Given the description of an element on the screen output the (x, y) to click on. 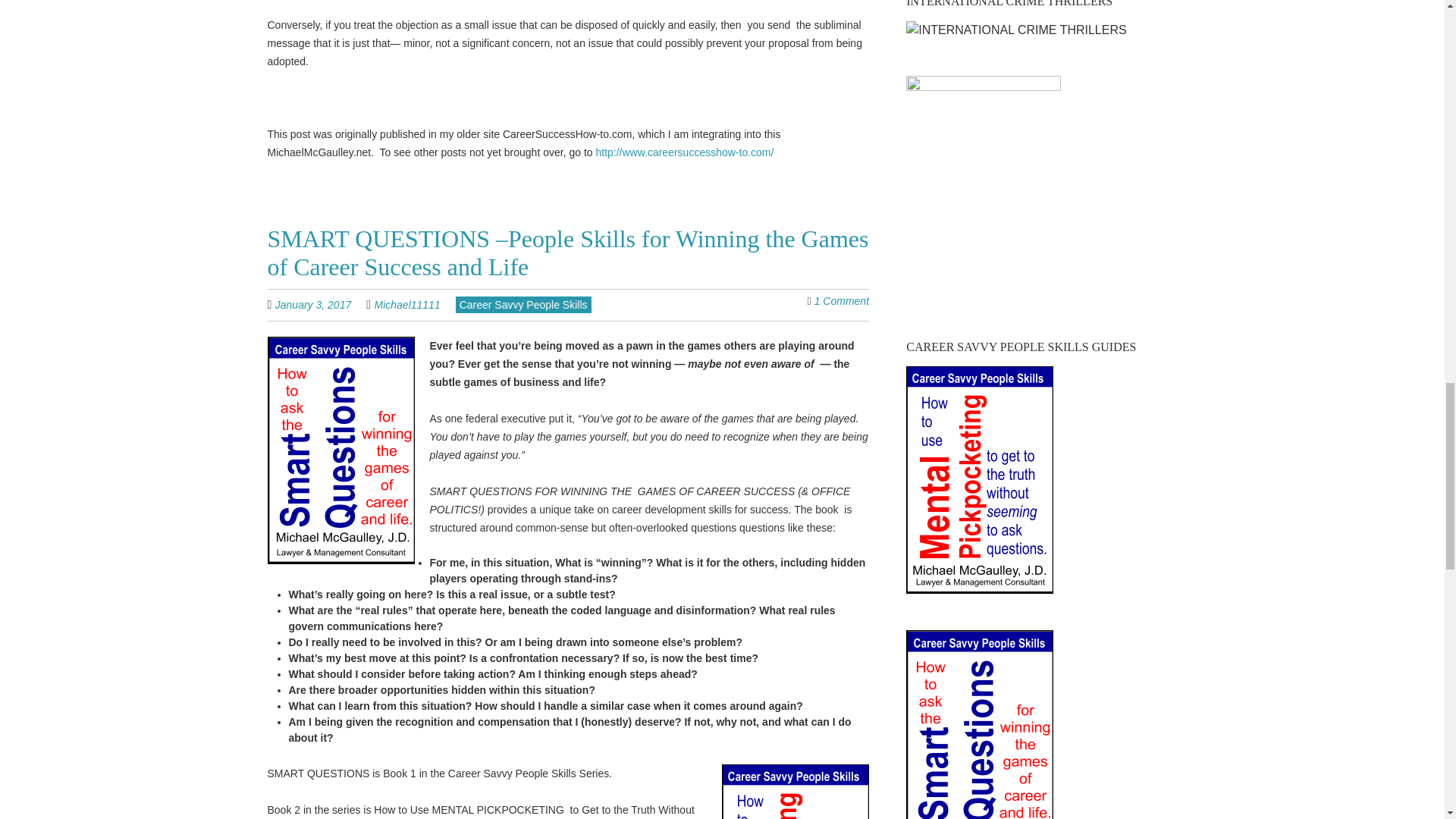
View all posts by Michael11111 (407, 304)
1 Comment (841, 300)
Michael11111 (407, 304)
January 3, 2017 (320, 304)
Career Savvy People Skills (523, 304)
